Given the description of an element on the screen output the (x, y) to click on. 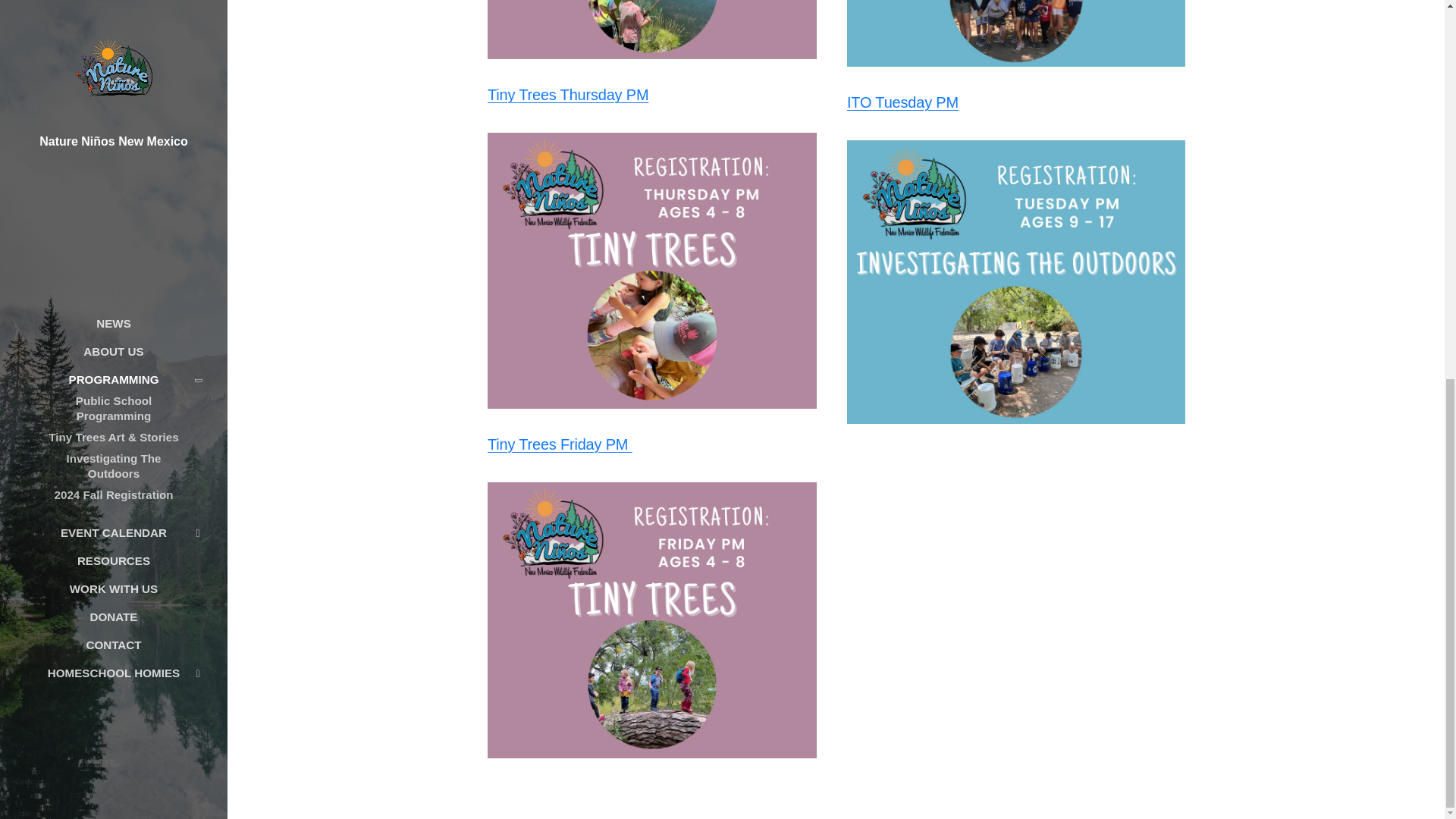
ITO Tuesday PM (901, 102)
Tiny Trees Friday PM  (558, 443)
Tiny Trees Thursday PM (566, 94)
